Given the description of an element on the screen output the (x, y) to click on. 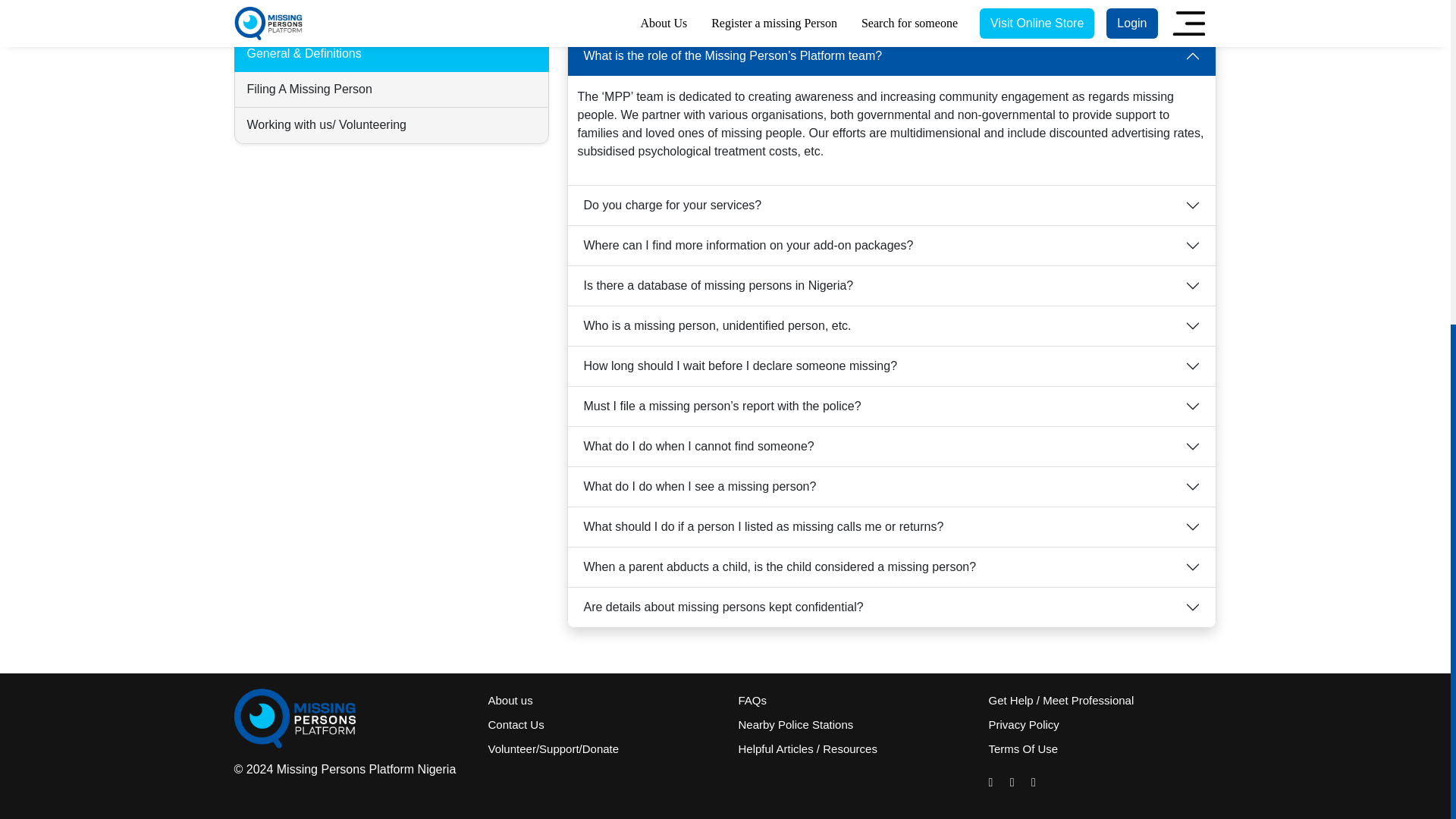
Filing A Missing Person (390, 89)
Search (893, 8)
Clear (946, 8)
